Given the description of an element on the screen output the (x, y) to click on. 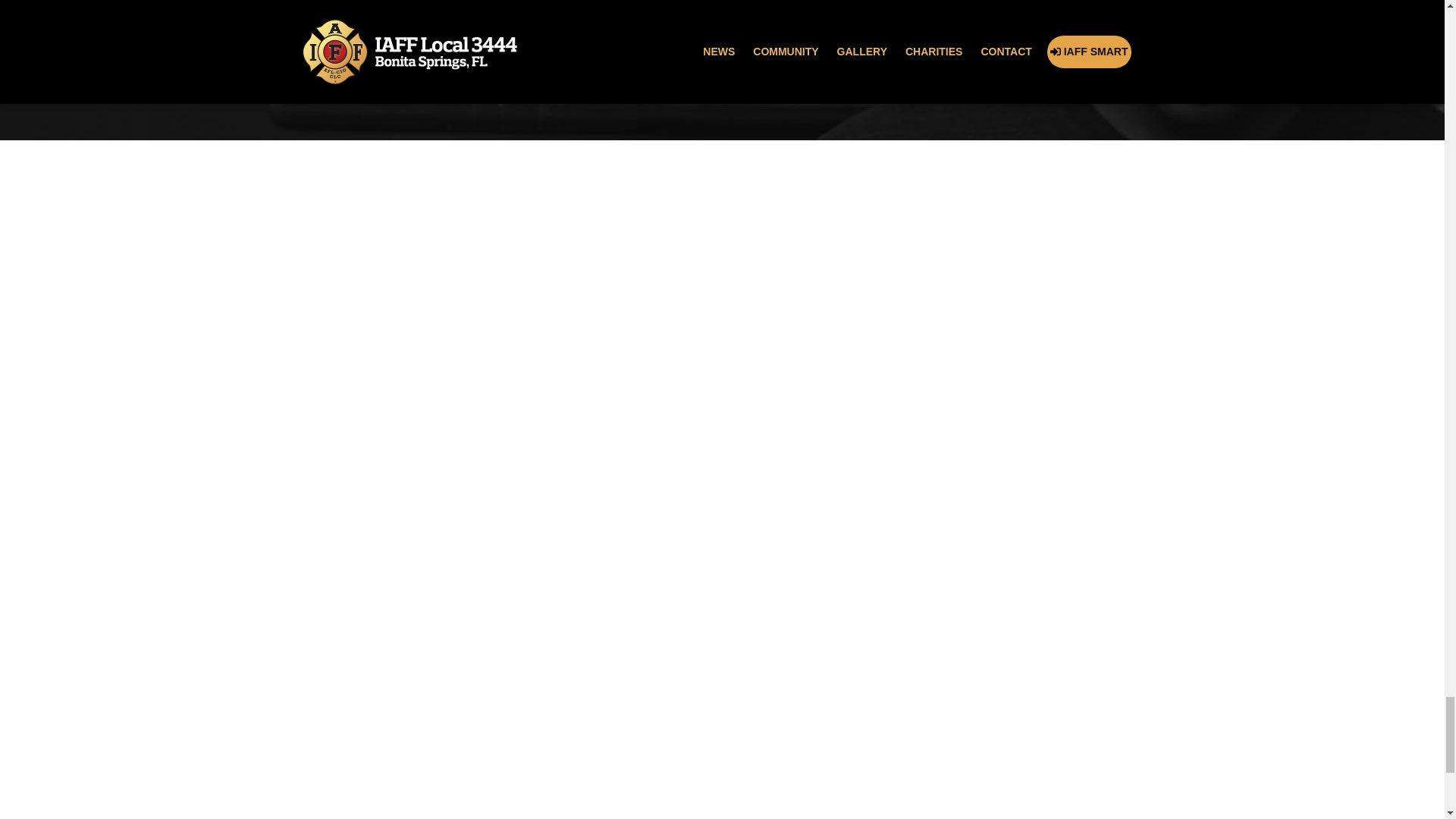
Send Message (381, 68)
